Given the description of an element on the screen output the (x, y) to click on. 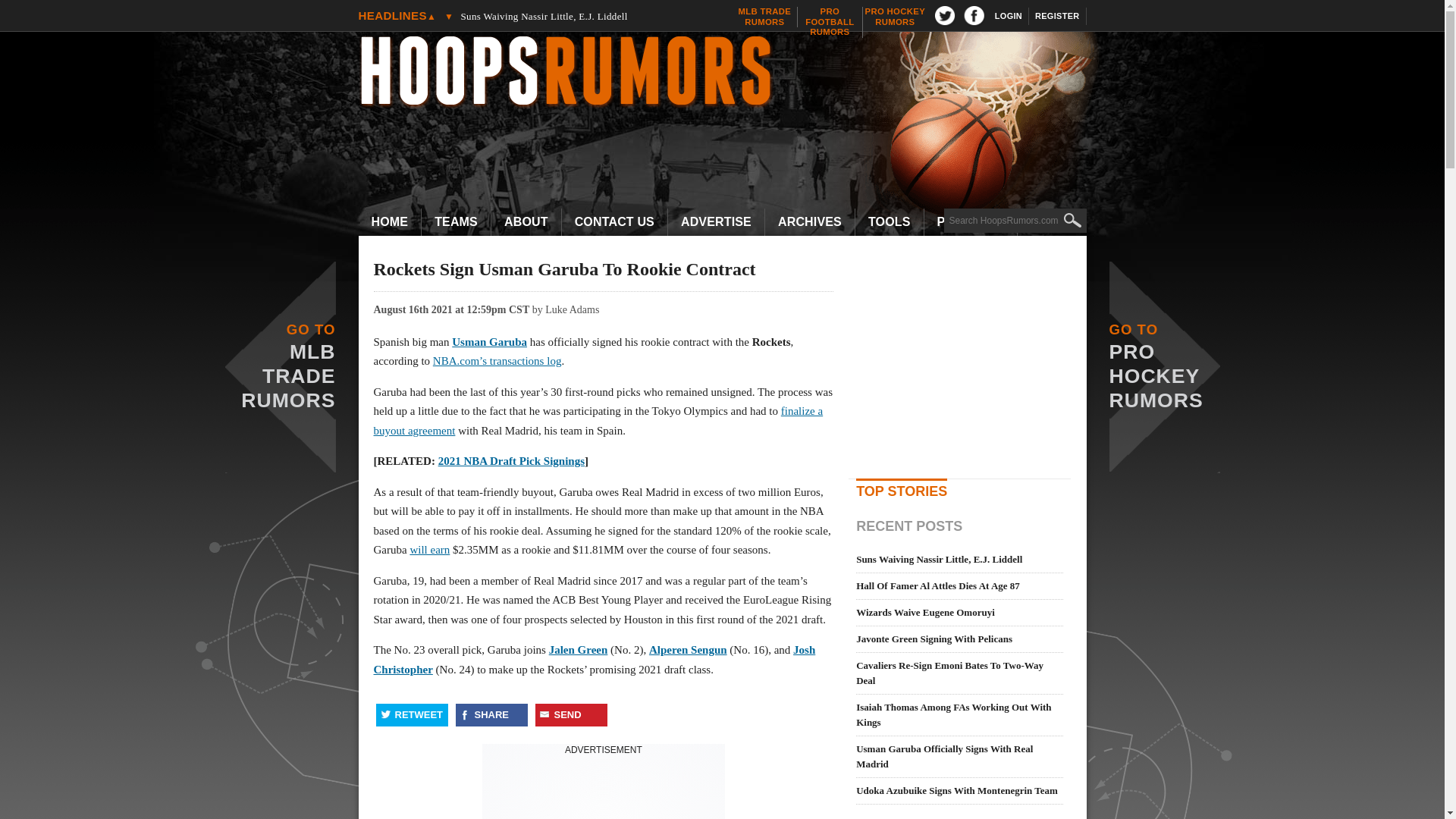
Hoops Rumors (729, 72)
REGISTER (1057, 16)
teams (457, 221)
Suns Waiving Nassir Little, E.J. Liddell (585, 16)
HOME (895, 16)
